Given the description of an element on the screen output the (x, y) to click on. 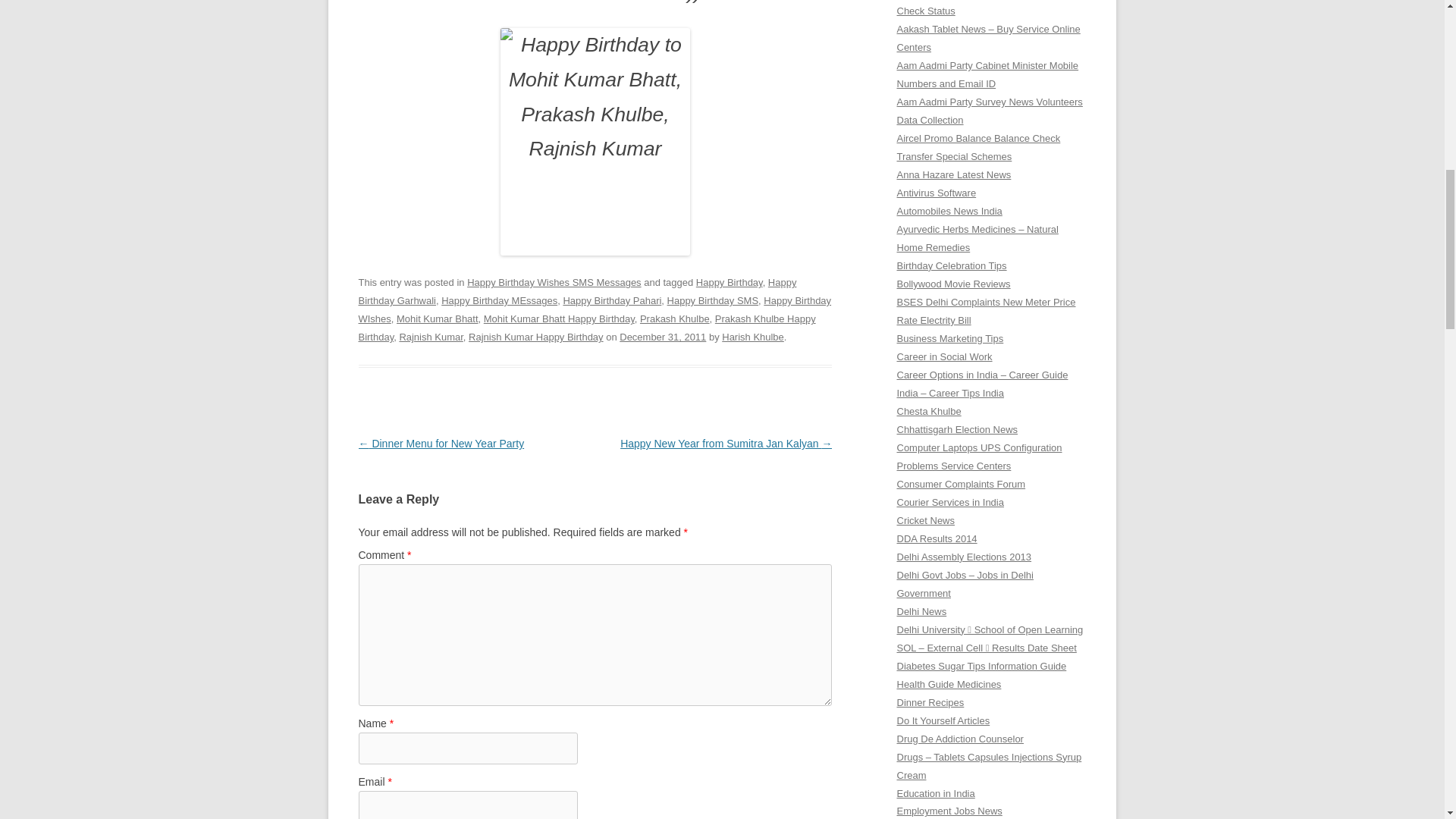
11:27 am (663, 337)
Aircel Promo Balance Balance Check Transfer Special Schemes (977, 147)
View all posts by Harish Khulbe (753, 337)
December 31, 2011 (663, 337)
Anna Hazare Latest News (953, 174)
Happy Birthday Pahari (611, 300)
Happy Birthday SMS (712, 300)
Happy Birthday Wishes SMS Messages (553, 282)
Rajnish Kumar Happy Birthday (536, 337)
Happy Birthday Garhwali (577, 291)
Aam Aadmi Party Survey News Volunteers Data Collection (988, 111)
Harish Khulbe (753, 337)
Happy Birthday MEssages (499, 300)
Rajnish Kumar (430, 337)
Prakash Khulbe Happy Birthday (586, 327)
